Given the description of an element on the screen output the (x, y) to click on. 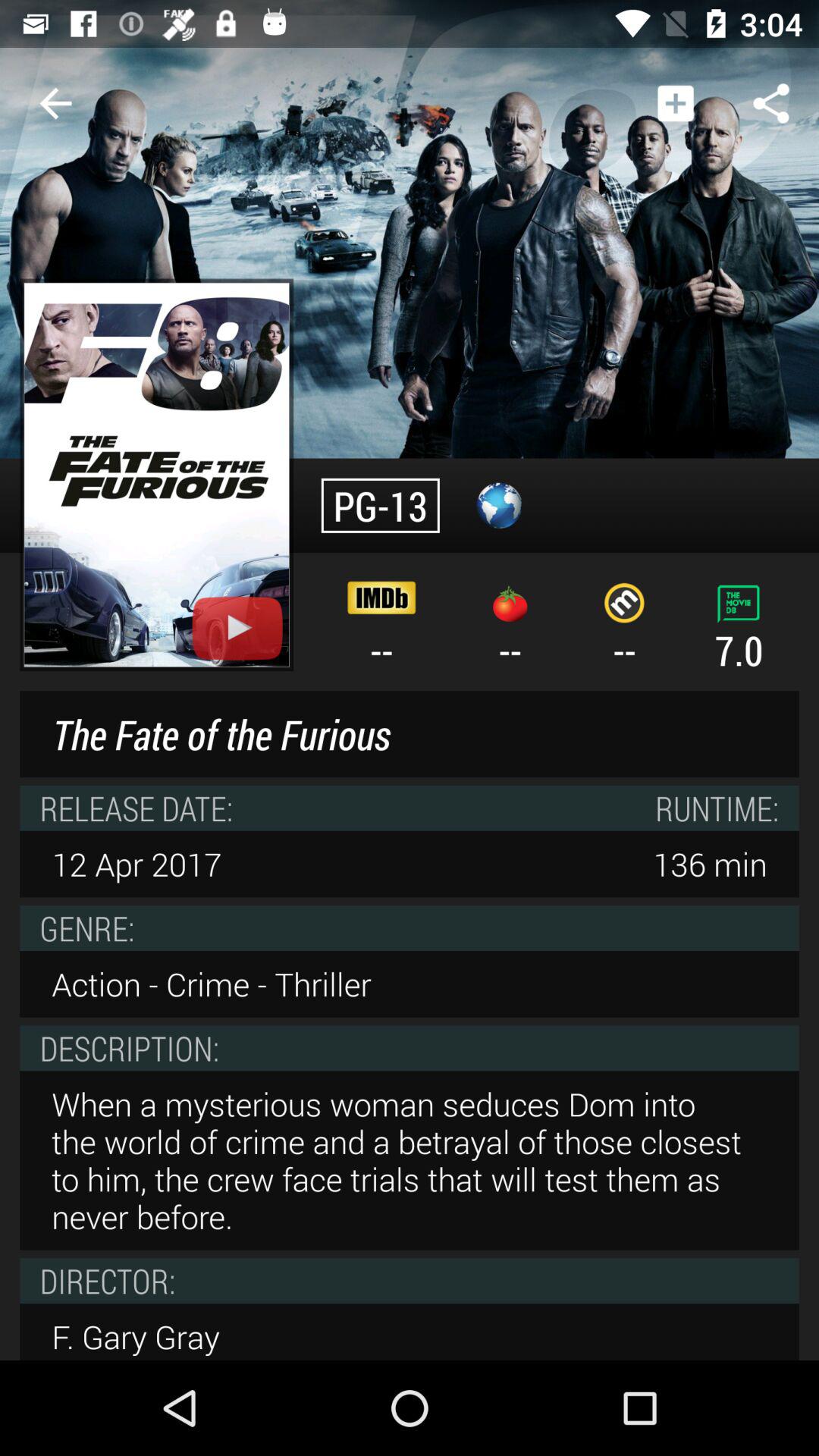
choose app next to   icon (675, 103)
